Given the description of an element on the screen output the (x, y) to click on. 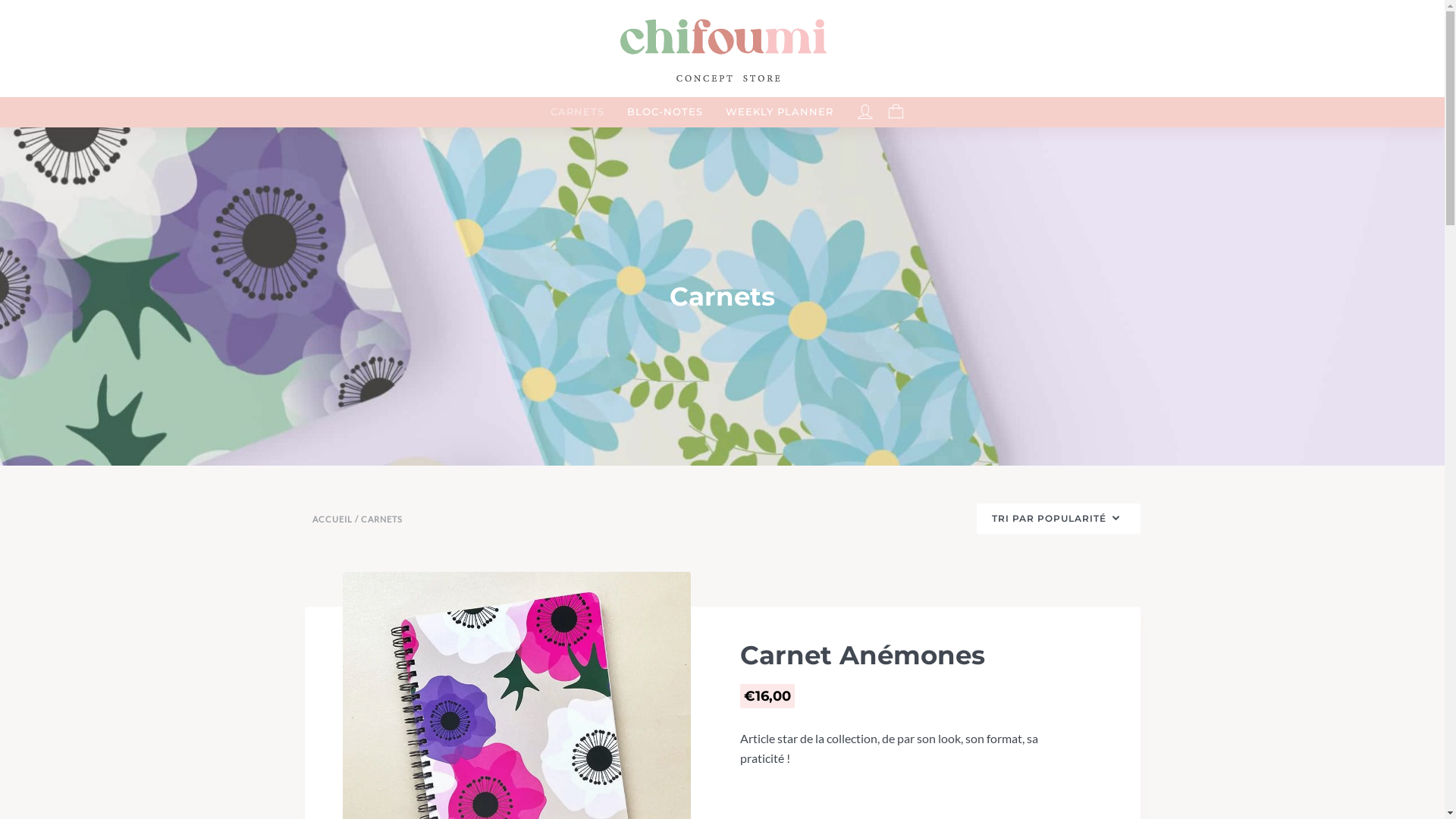
CARNETS Element type: text (577, 112)
ACCUEIL Element type: text (332, 519)
WEEKLY PLANNER Element type: text (779, 112)
BLOC-NOTES Element type: text (664, 112)
